Given the description of an element on the screen output the (x, y) to click on. 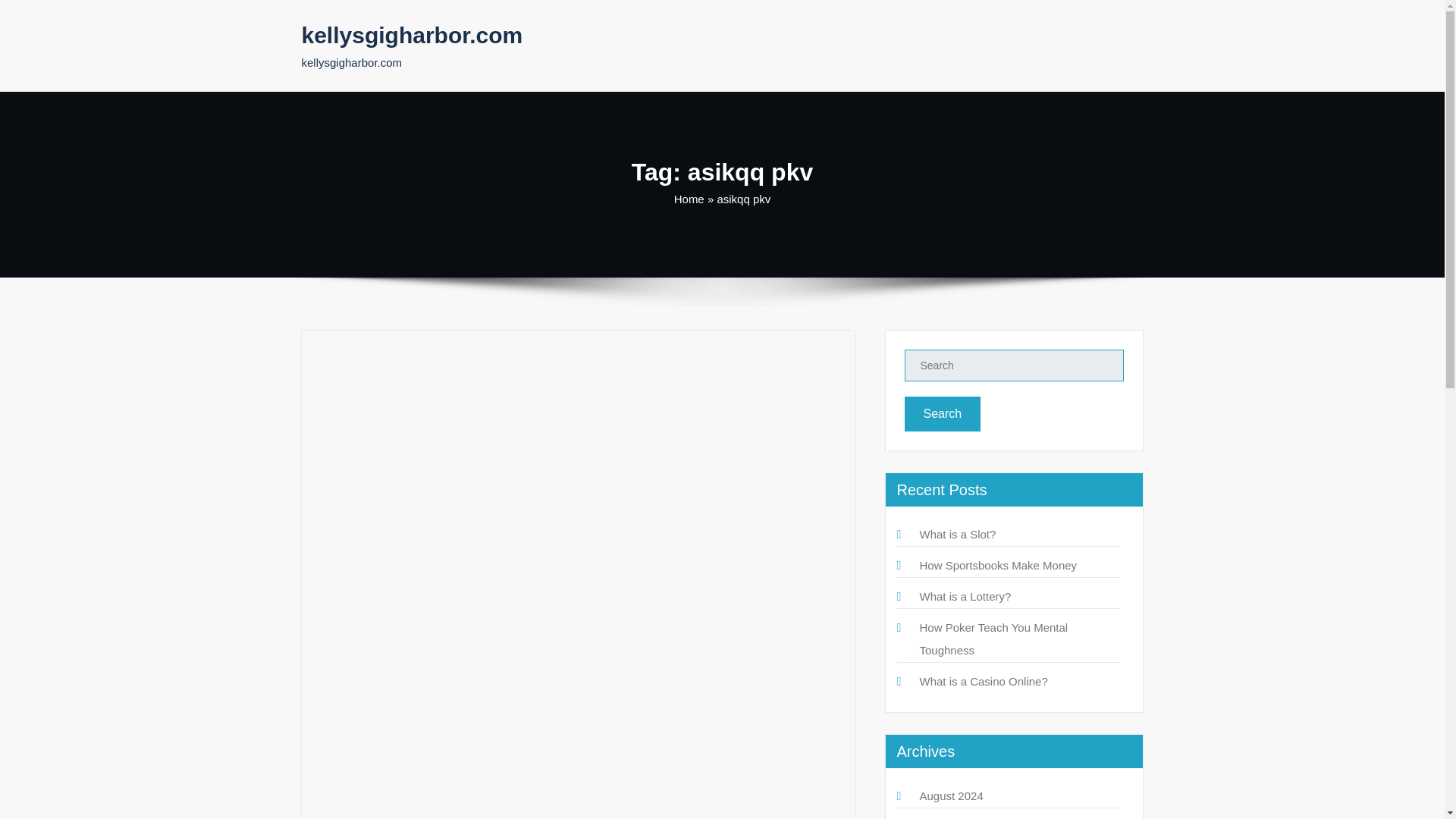
What is a Casino Online? (982, 680)
kellysgigharbor.com (411, 34)
Search (941, 413)
What is a Lottery? (964, 595)
How Sportsbooks Make Money (997, 564)
ASIKQQ (334, 637)
How Poker Teach You Mental Toughness (992, 638)
August 2024 (950, 795)
How to Play Online Poker (404, 443)
Uncategorized (484, 404)
